Given the description of an element on the screen output the (x, y) to click on. 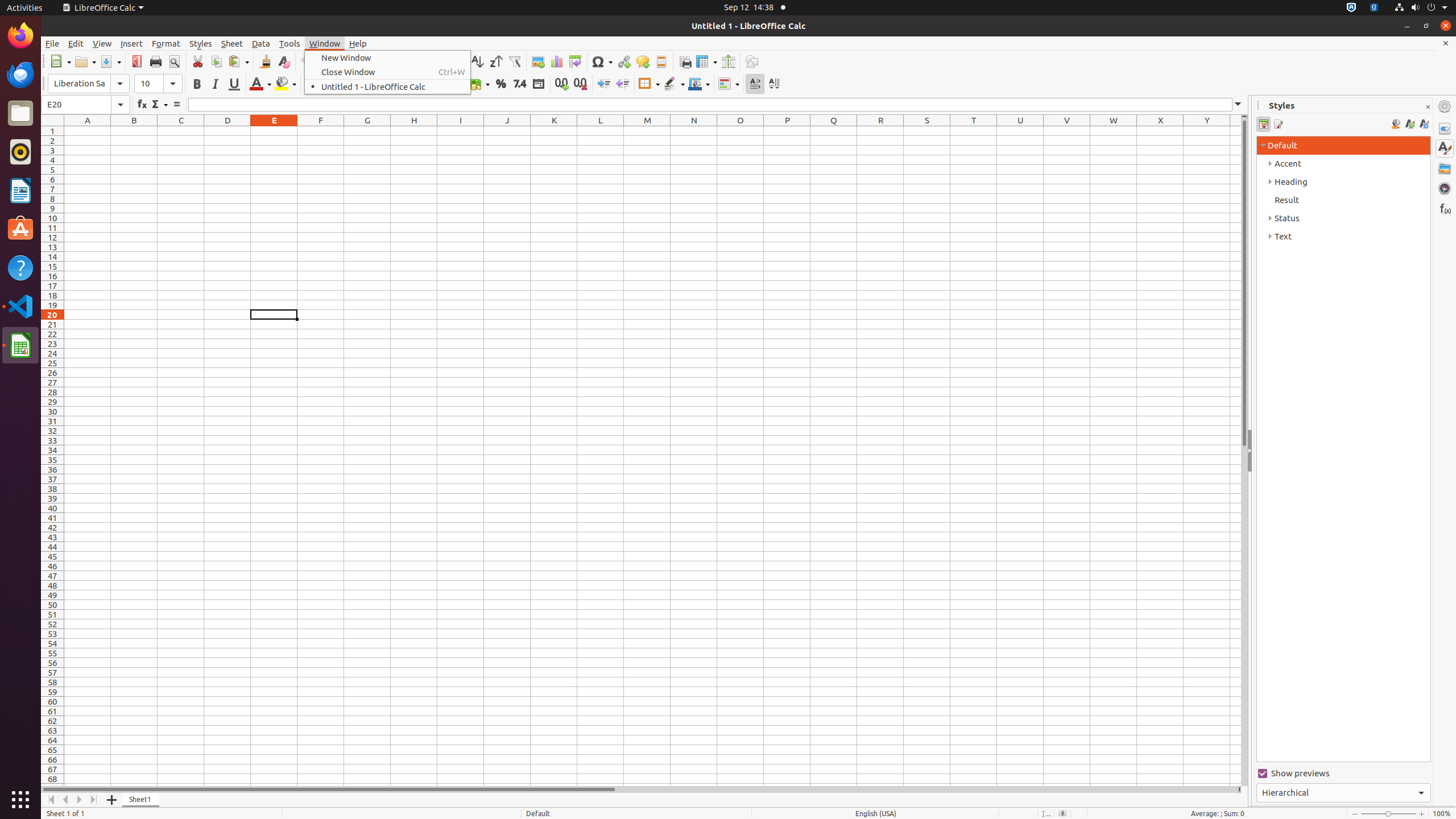
W1 Element type: table-cell (1113, 130)
Sheet Element type: menu (231, 43)
Move Right Element type: push-button (79, 799)
Date Element type: push-button (537, 83)
Image Element type: push-button (537, 61)
